Given the description of an element on the screen output the (x, y) to click on. 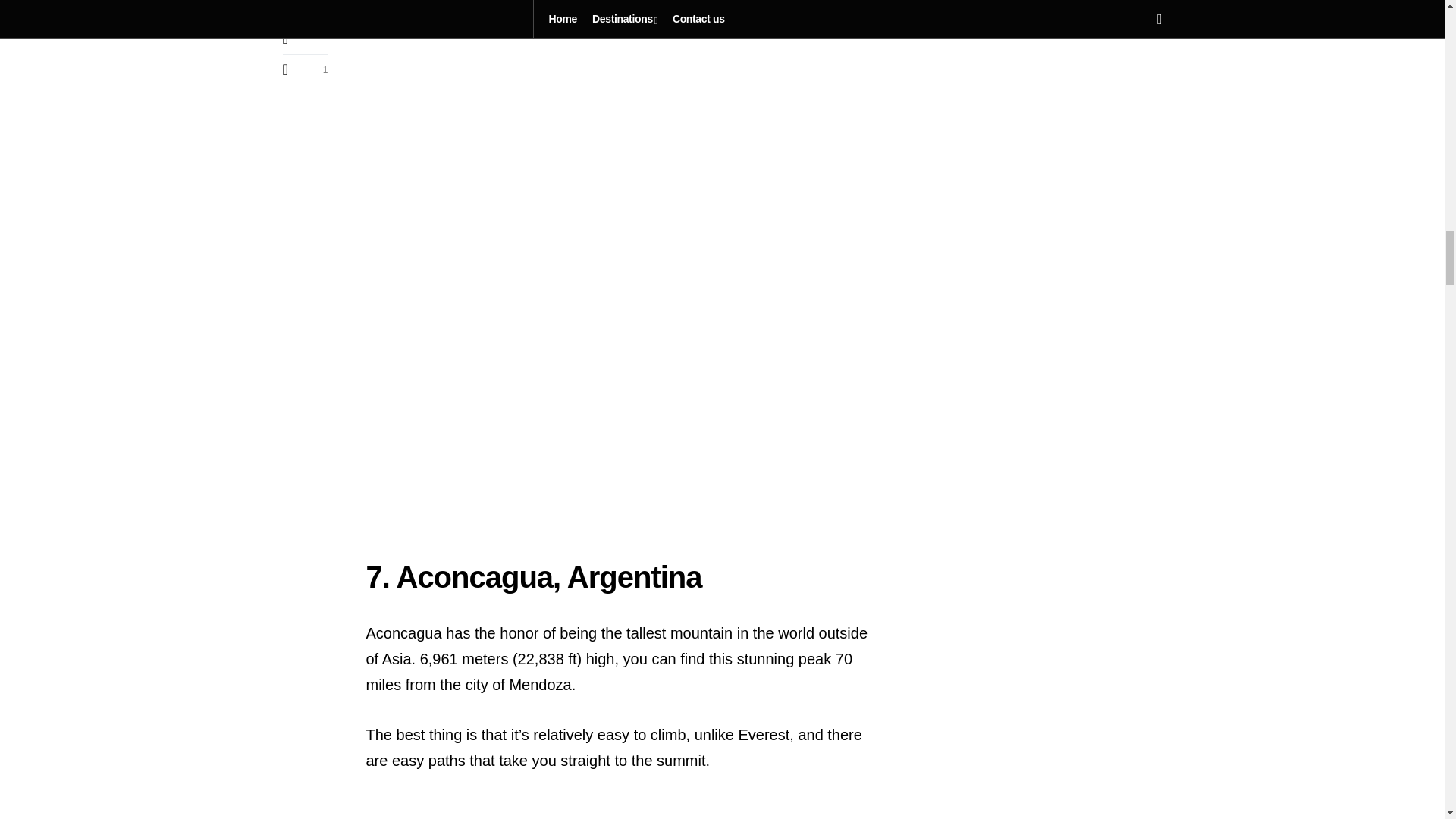
Top 10 Natural Wonders of South America You Must Visit 12 (622, 808)
Top 10 Natural Wonders of South America You Must Visit 10 (622, 49)
